Given the description of an element on the screen output the (x, y) to click on. 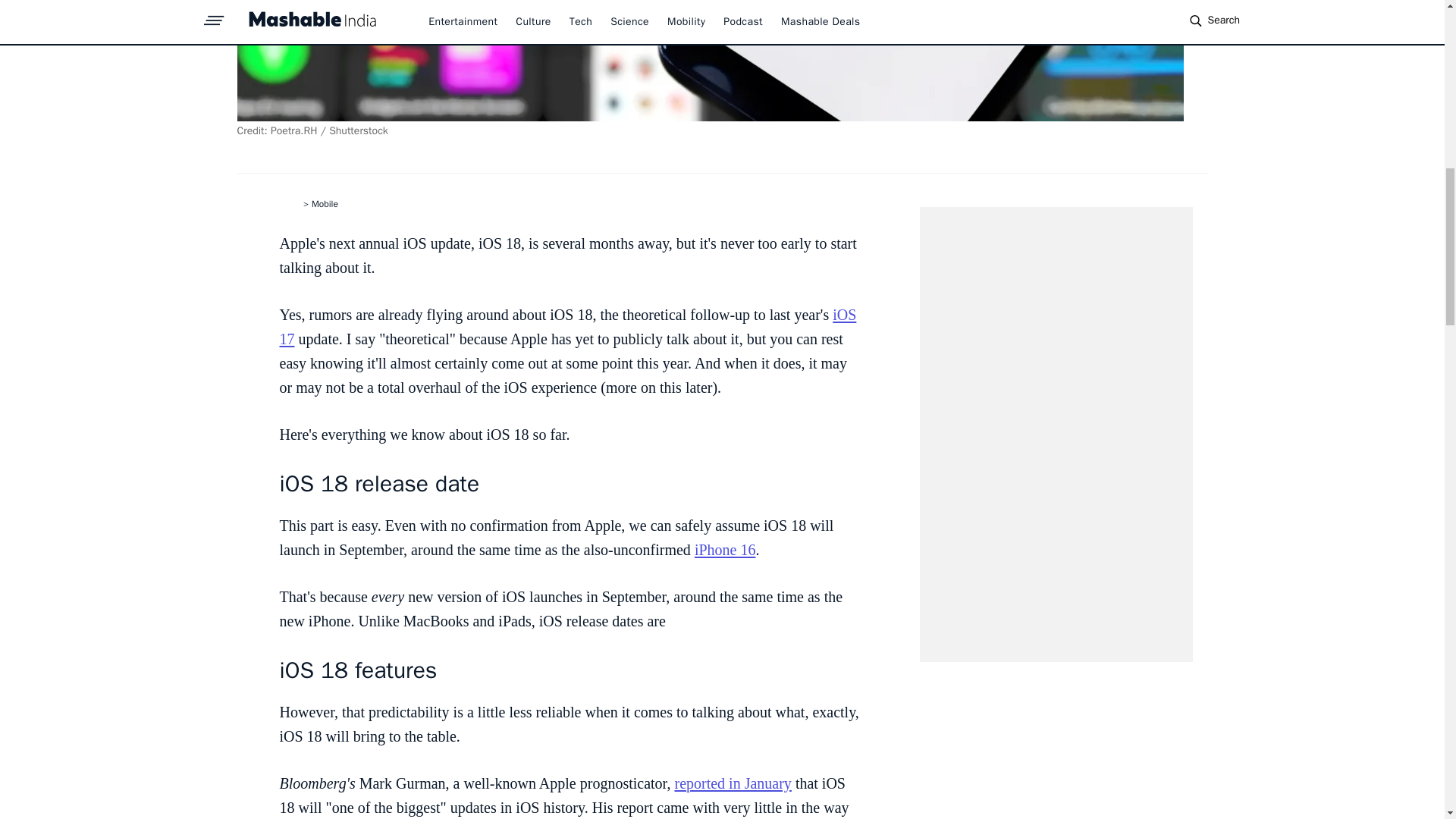
iOS 17 (567, 326)
reported in January (732, 782)
iPhone 16 (724, 549)
